Given the description of an element on the screen output the (x, y) to click on. 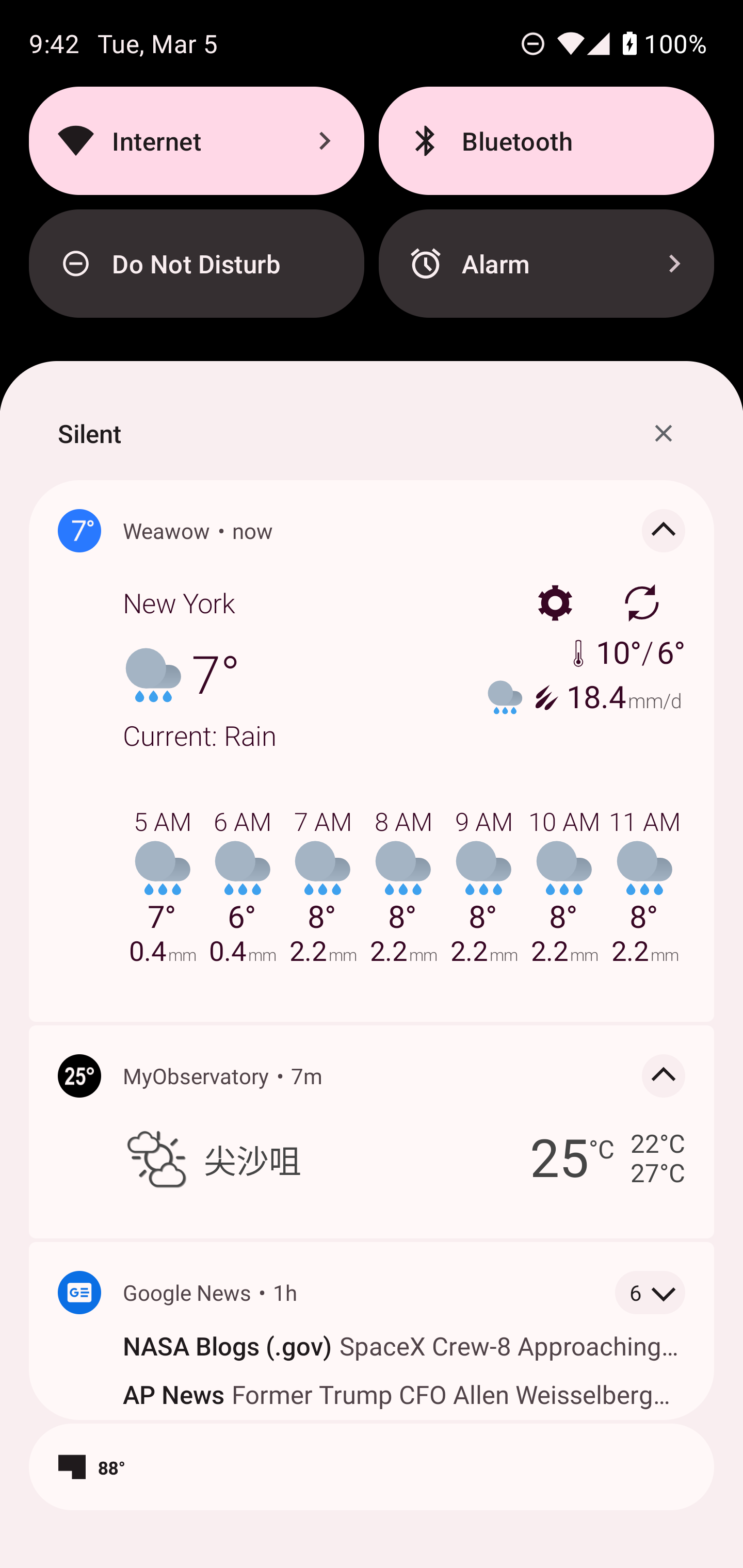
On Internet,AndroidWifi Internet (196, 140)
On Bluetooth. Bluetooth (546, 140)
Off Do Not Disturb. Do Not Disturb (196, 264)
Alarm, No alarm set Alarm (546, 264)
Silent (89, 433)
Clear all silent notifications (663, 433)
Collapse (663, 530)
Collapse (663, 1075)
Expand 6 (650, 1292)
